Given the description of an element on the screen output the (x, y) to click on. 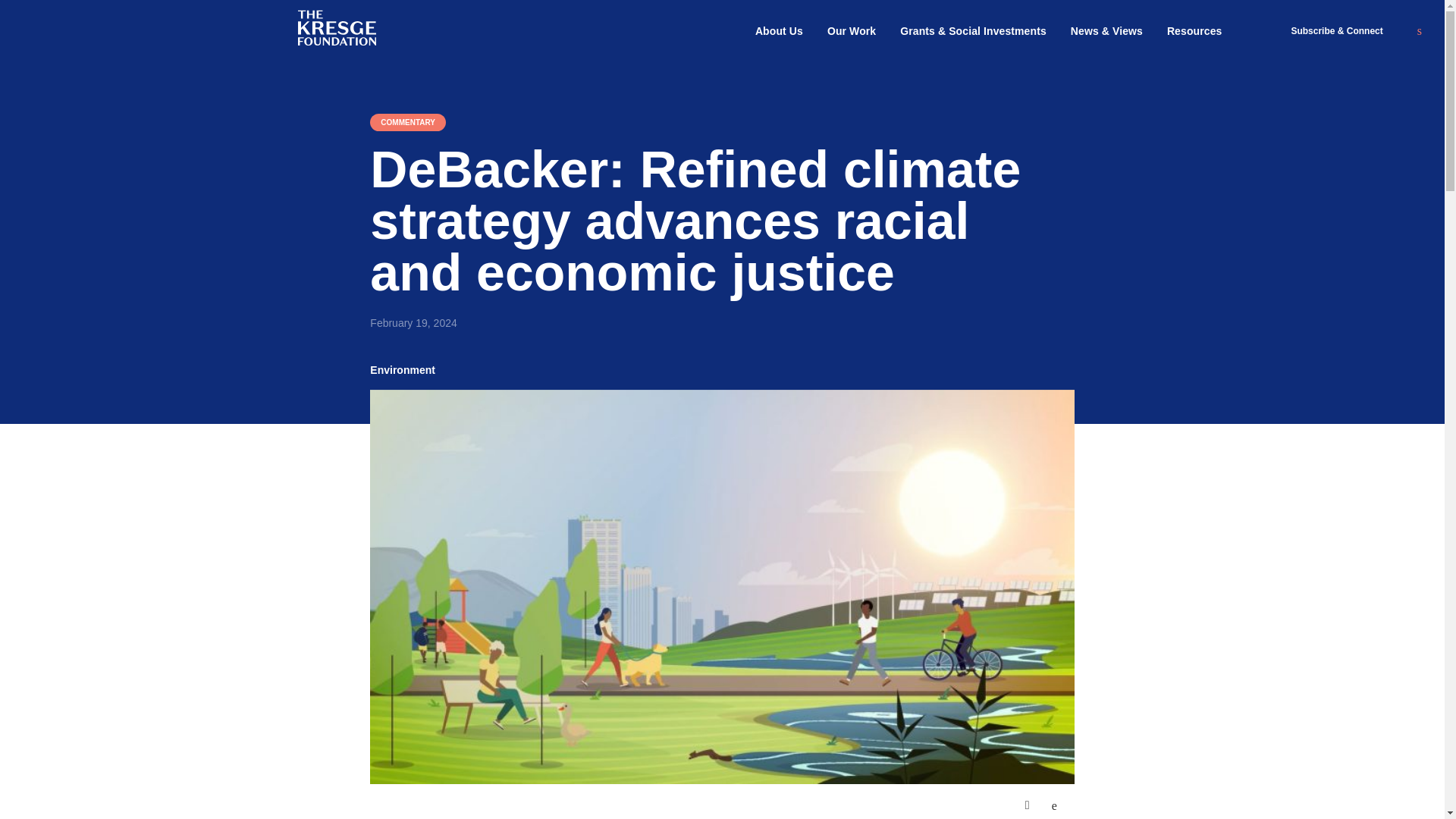
The Kresge Foundation (339, 28)
Resources (1195, 31)
